Given the description of an element on the screen output the (x, y) to click on. 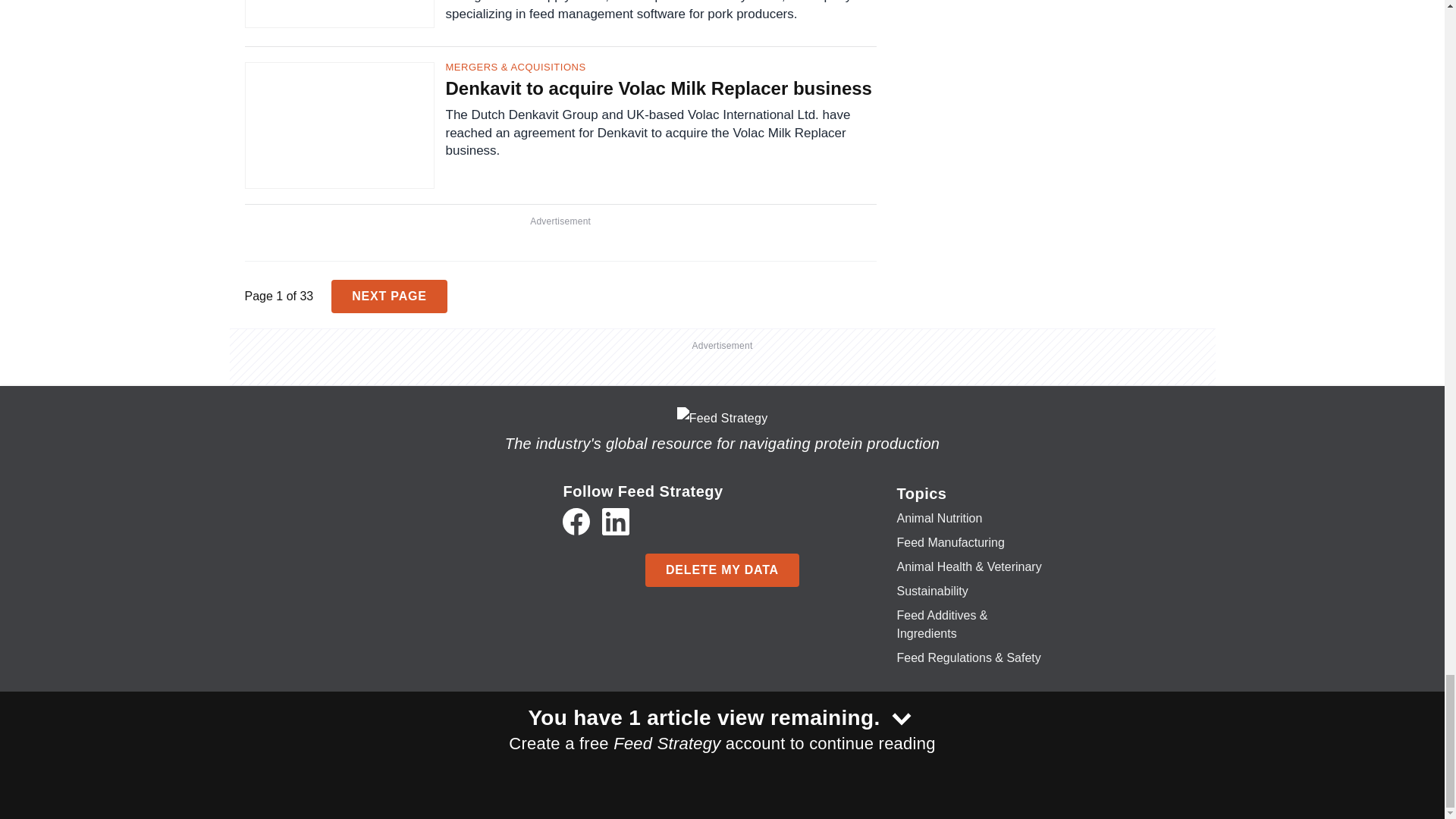
Facebook icon (575, 521)
LinkedIn icon (615, 521)
